Given the description of an element on the screen output the (x, y) to click on. 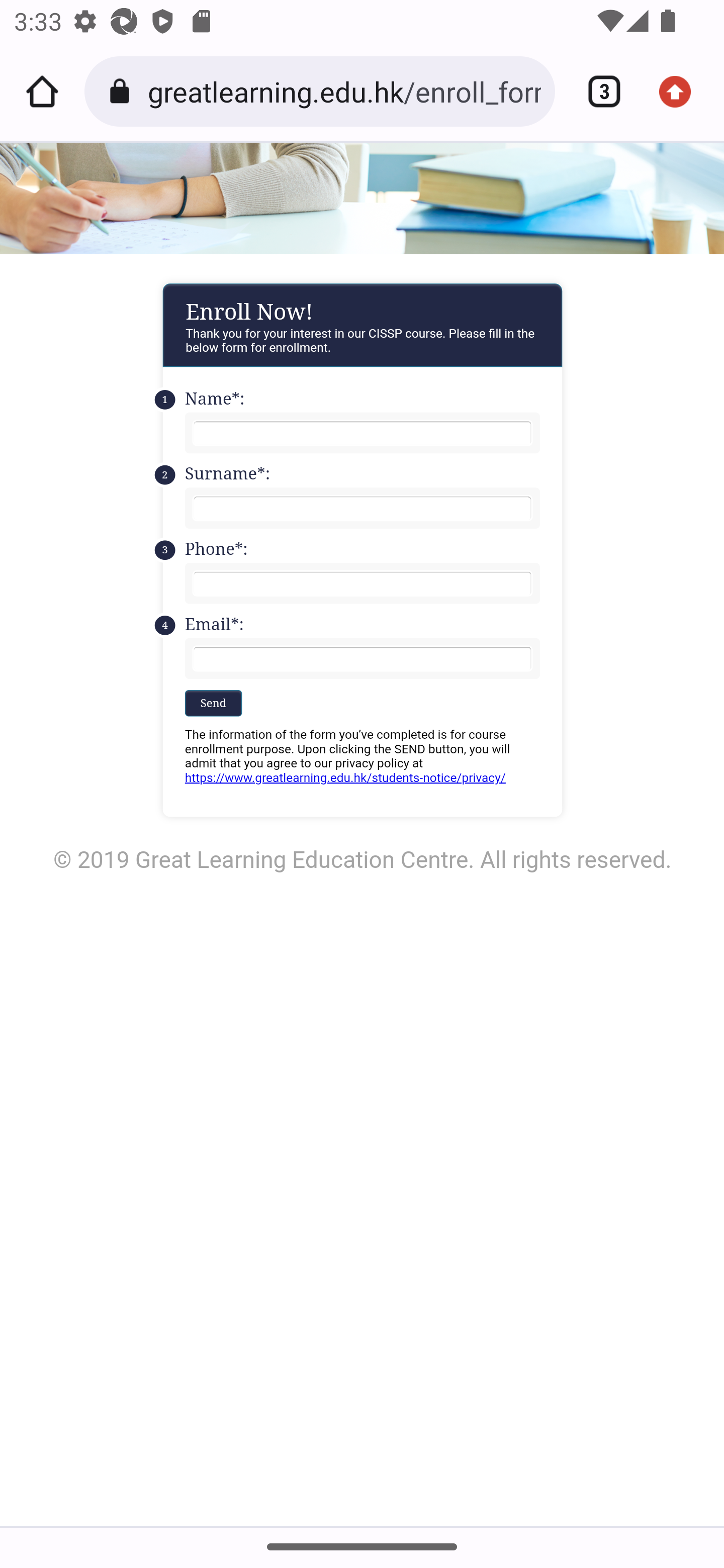
Home (42, 91)
Connection is secure (122, 91)
Switch or close tabs (597, 91)
Update available. More options (681, 91)
Send (213, 702)
